Given the description of an element on the screen output the (x, y) to click on. 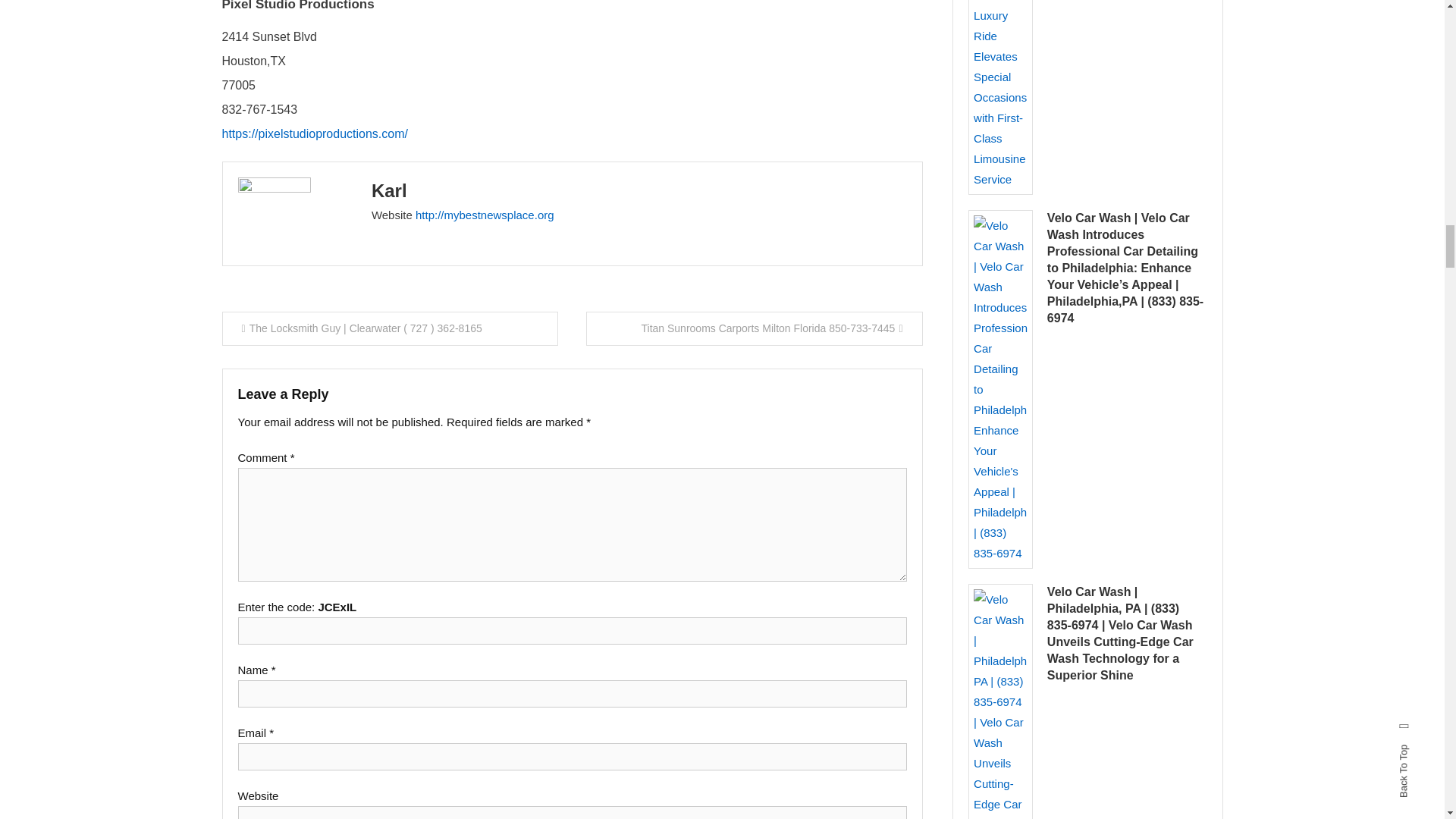
Titan Sunrooms Carports Milton Florida 850-733-7445 (754, 328)
Karl (389, 190)
Posts by Karl (389, 190)
